Given the description of an element on the screen output the (x, y) to click on. 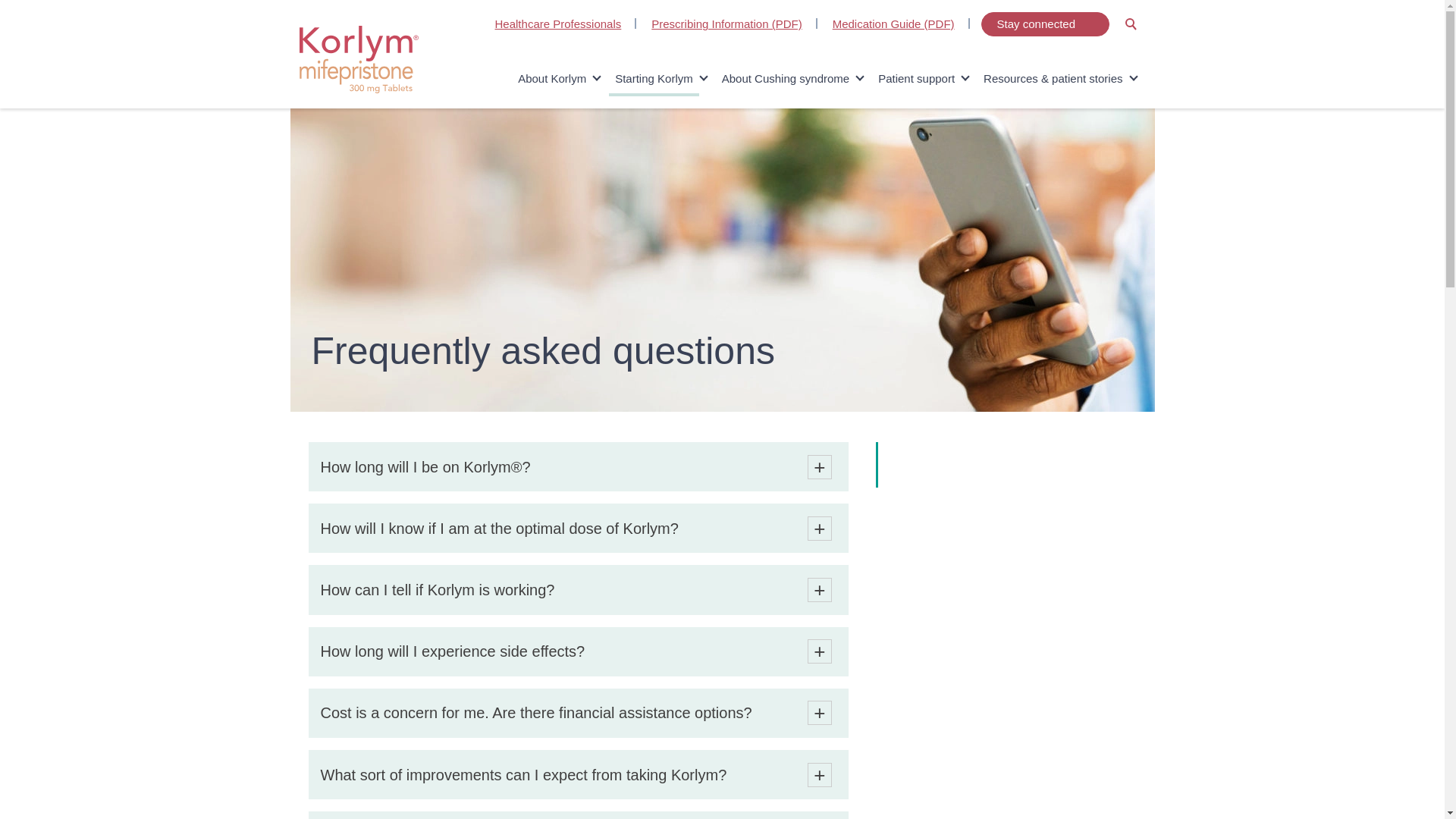
Healthcare Professionals (558, 23)
Patient support (916, 78)
Starting Korlym (653, 78)
About Korlym (552, 78)
About Cushing syndrome (786, 78)
Stay connected (1045, 24)
